Given the description of an element on the screen output the (x, y) to click on. 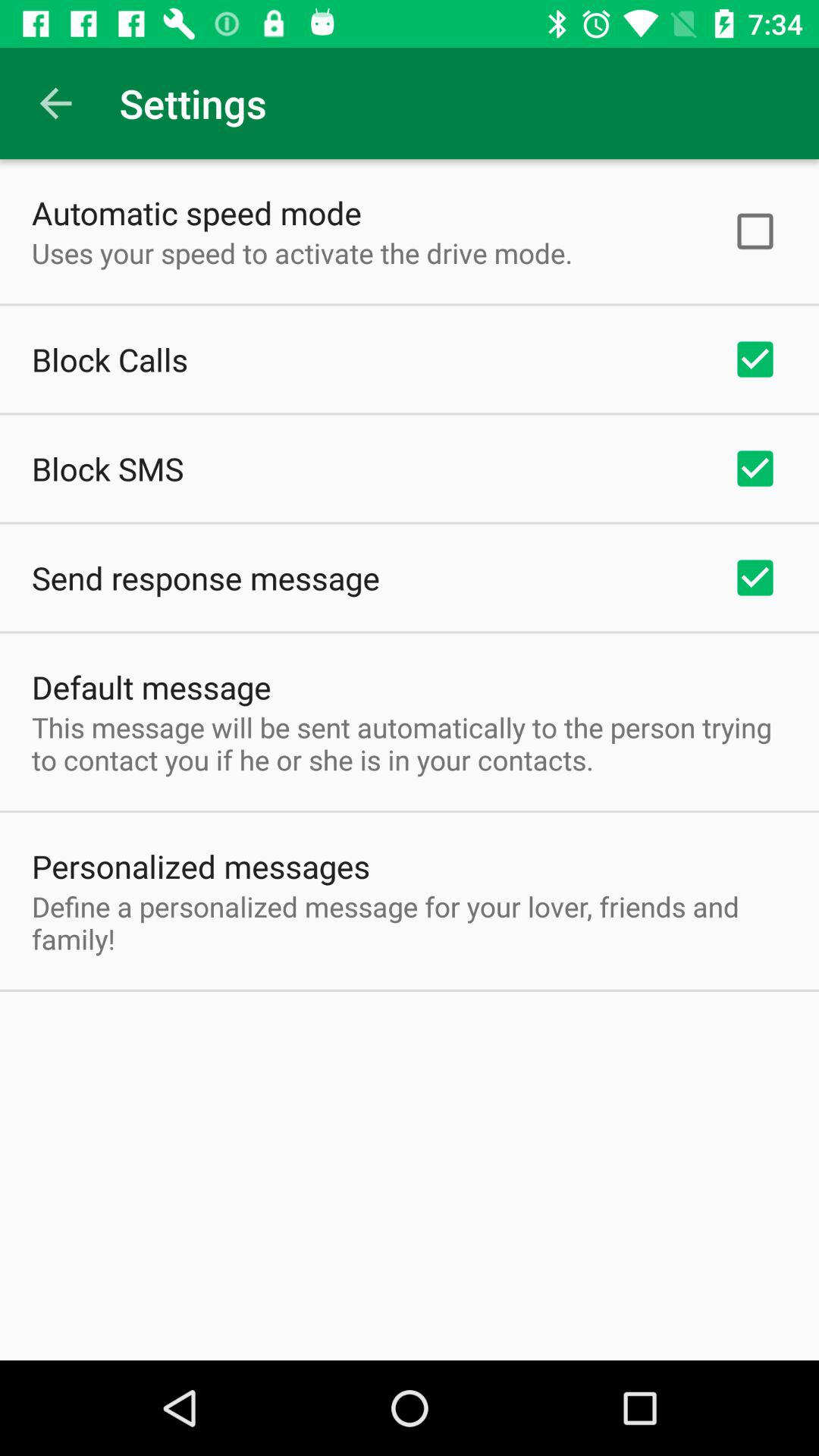
press the app above the default message (205, 577)
